Given the description of an element on the screen output the (x, y) to click on. 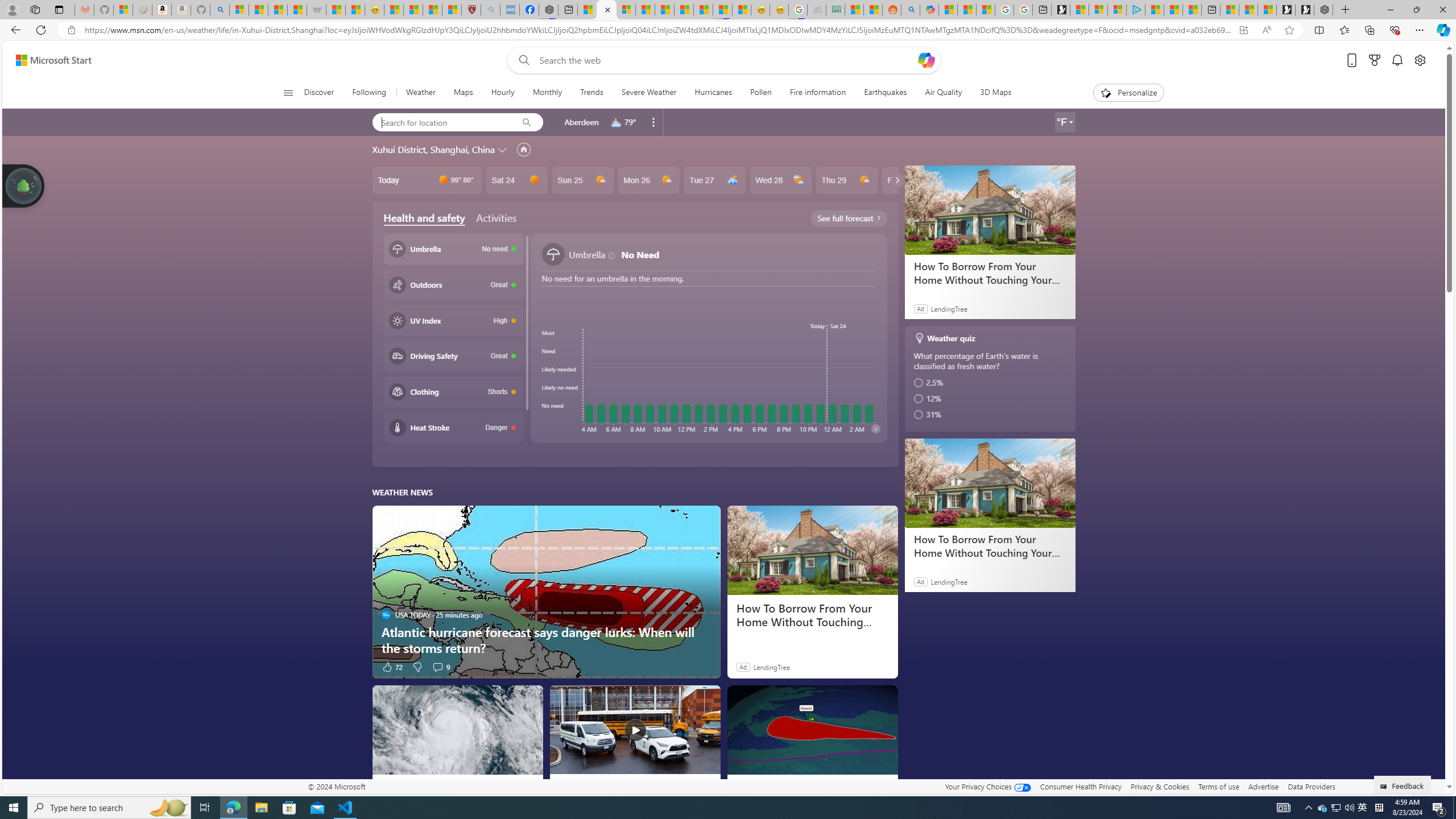
Clothing Shorts (453, 391)
Join us in planting real trees to help our planet! (23, 184)
next (875, 428)
See full forecast (848, 217)
